Given the description of an element on the screen output the (x, y) to click on. 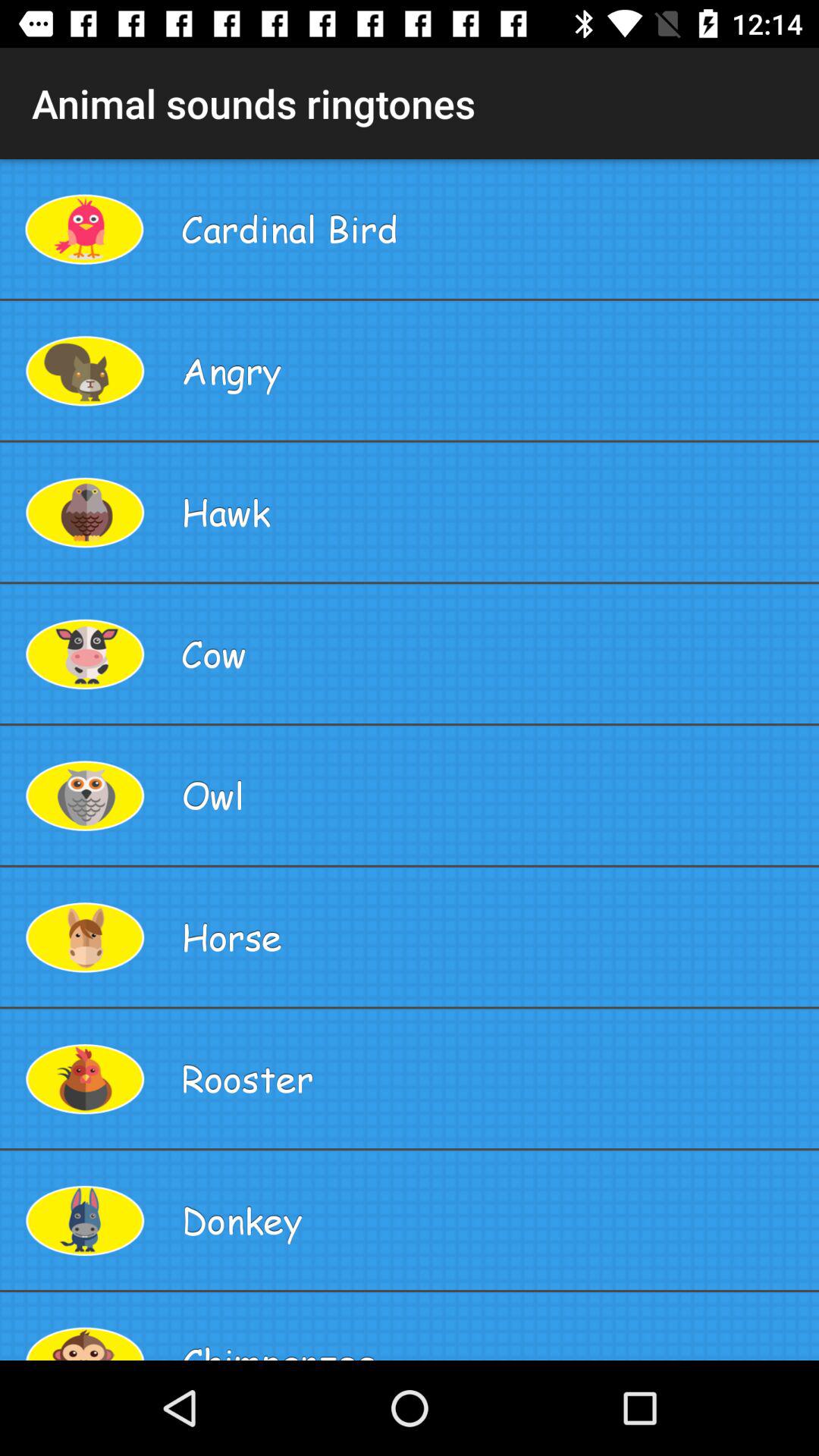
scroll to hawk item (494, 511)
